Given the description of an element on the screen output the (x, y) to click on. 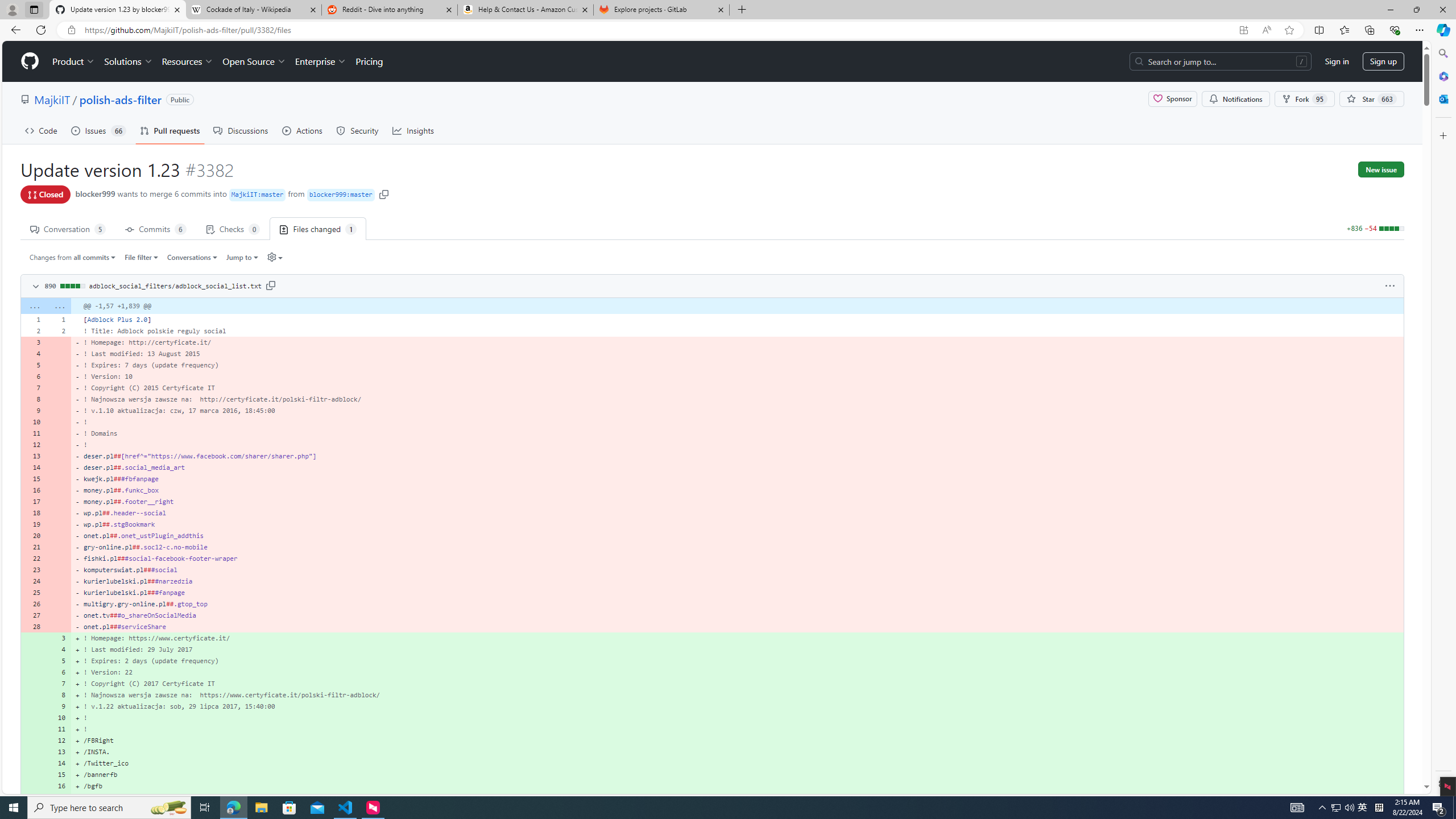
- ! Copyright (C) 2015 Certyficate IT (737, 387)
25 (33, 592)
Open Source (254, 60)
+ /FBRight  (737, 740)
- deser.pl##.social_media_art (737, 467)
+ /bgfb  (737, 785)
+ ! v.1.22 aktualizacja: sob, 29 lipca 2017, 15:40:00  (737, 706)
+ ! Homepage: https://www.certyficate.it/ (737, 637)
Fork 95 (1304, 98)
blocker999 : master (340, 195)
